Given the description of an element on the screen output the (x, y) to click on. 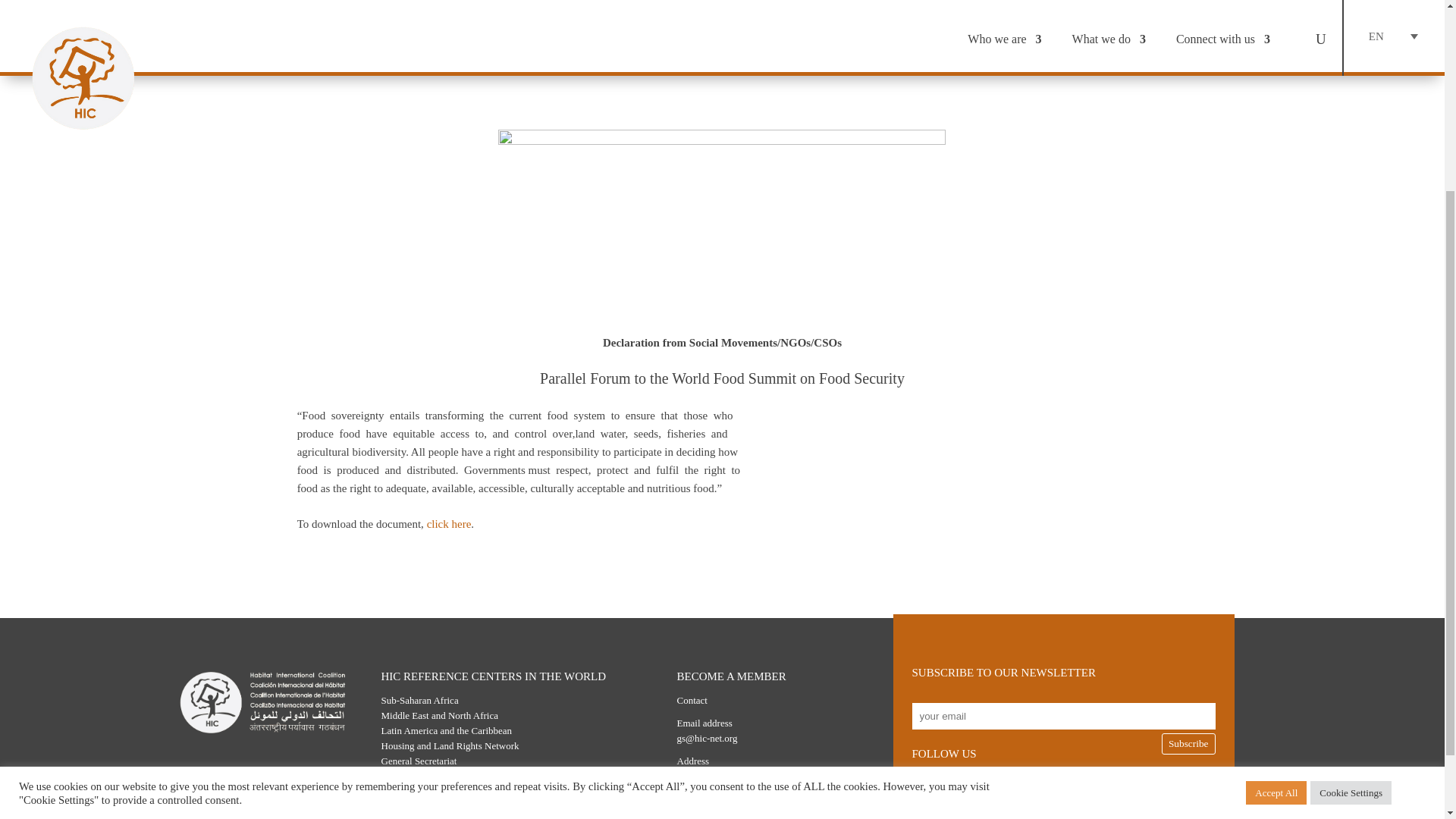
Sub-Saharan Africa (419, 699)
Housing and Land Rights Network (449, 745)
Follow on LinkedIn (1135, 789)
Follow on Youtube (1094, 789)
HIC-LOGO-MULTIPLE-Languages-white (262, 702)
 Middle East and North Africa (438, 715)
General Secretariat (418, 760)
Latin America and the Caribbean (446, 730)
Follow on Google (1012, 789)
Follow on Facebook (1053, 789)
